Given the description of an element on the screen output the (x, y) to click on. 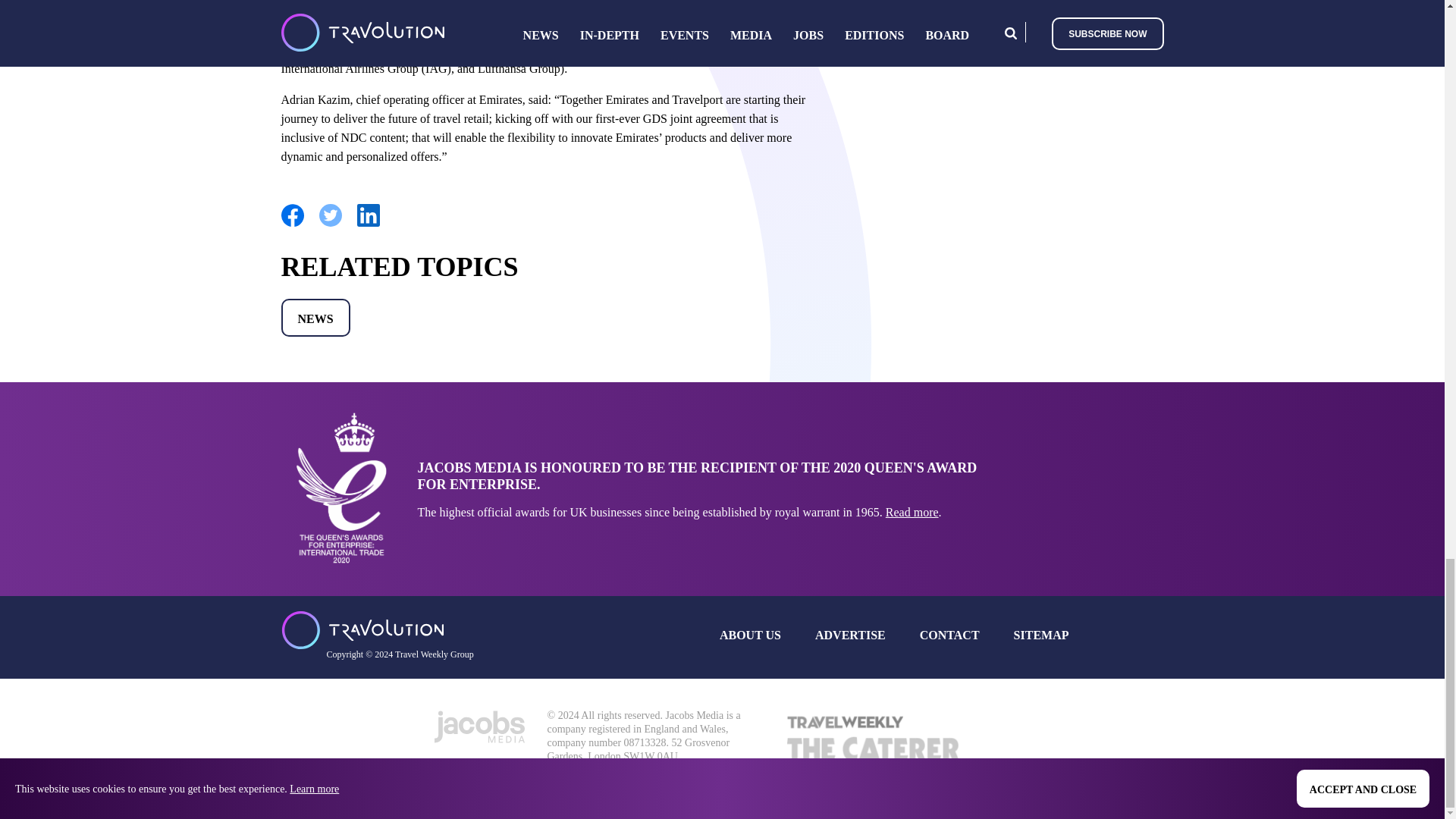
Share on Facebook (291, 224)
Share on LinkedIn (367, 224)
Share on Twitter (329, 224)
